Given the description of an element on the screen output the (x, y) to click on. 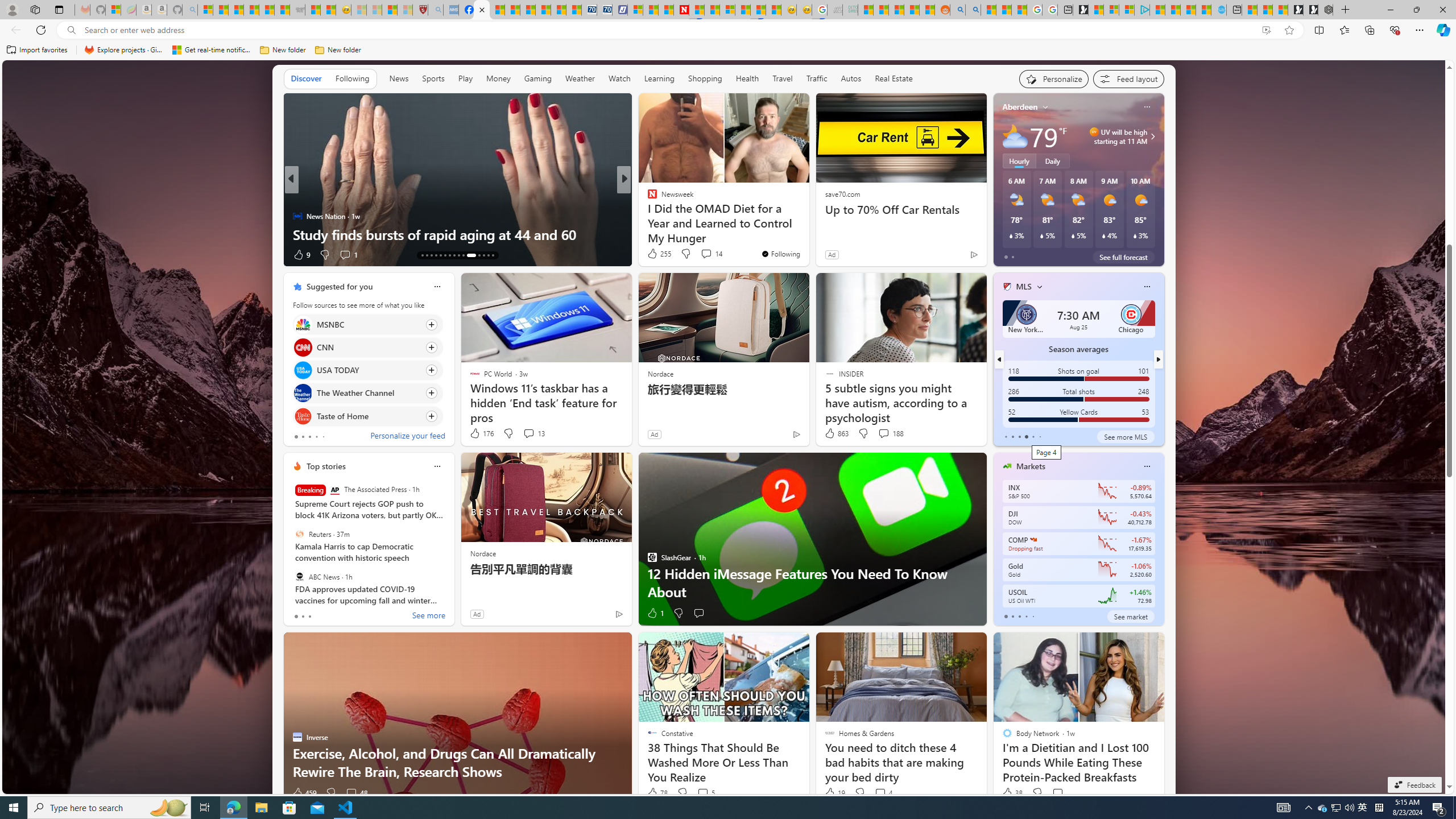
You're following Newsweek (780, 253)
View comments 188 Comment (890, 433)
View comments 14 Comment (705, 253)
Click to follow source MSNBC (367, 324)
Learning (658, 78)
next (1158, 359)
1 Like (655, 612)
Import favorites (36, 49)
More interests (1039, 286)
AutomationID: tab-75 (462, 255)
Aberdeen (1019, 106)
